Given the description of an element on the screen output the (x, y) to click on. 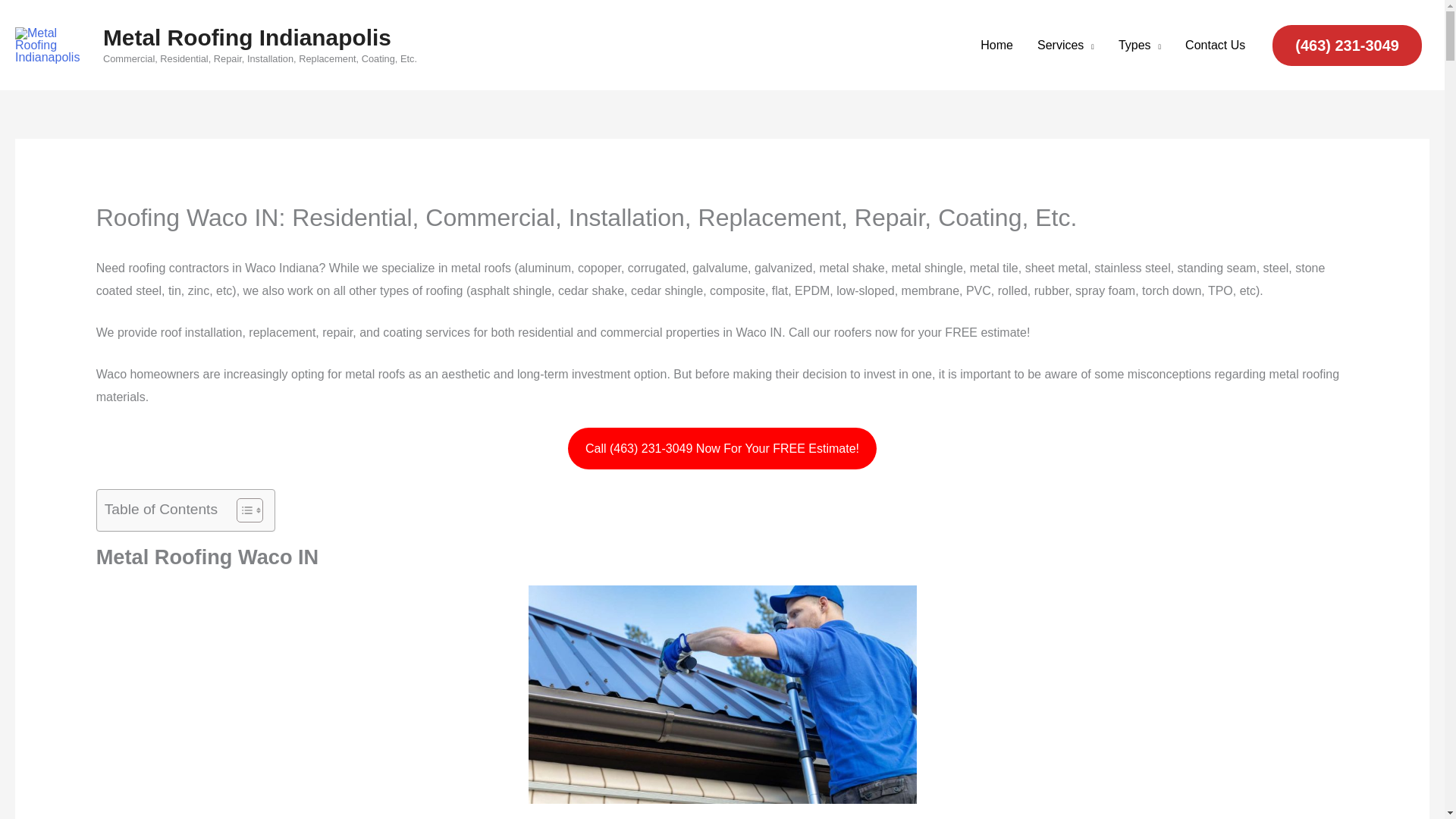
Metal Roofing Indianapolis (247, 37)
Services (1065, 44)
Home (996, 44)
